Given the description of an element on the screen output the (x, y) to click on. 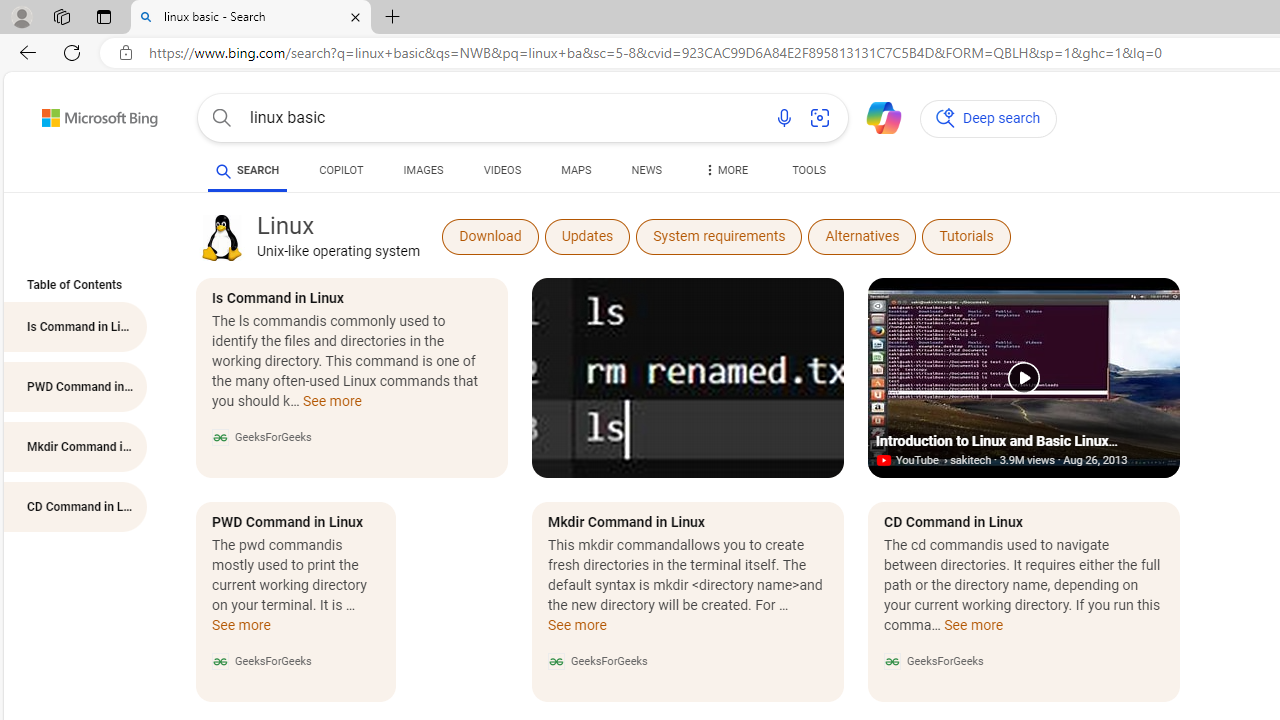
See more PWD Command in Linux (241, 630)
System requirements (719, 236)
AutomationID: b-scopeListItem-video (501, 173)
See more CD Command in Linux (973, 630)
Dropdown Menu (724, 170)
Linux (221, 236)
Alternatives (861, 236)
Chat (875, 116)
Tutorials (966, 236)
